Given the description of an element on the screen output the (x, y) to click on. 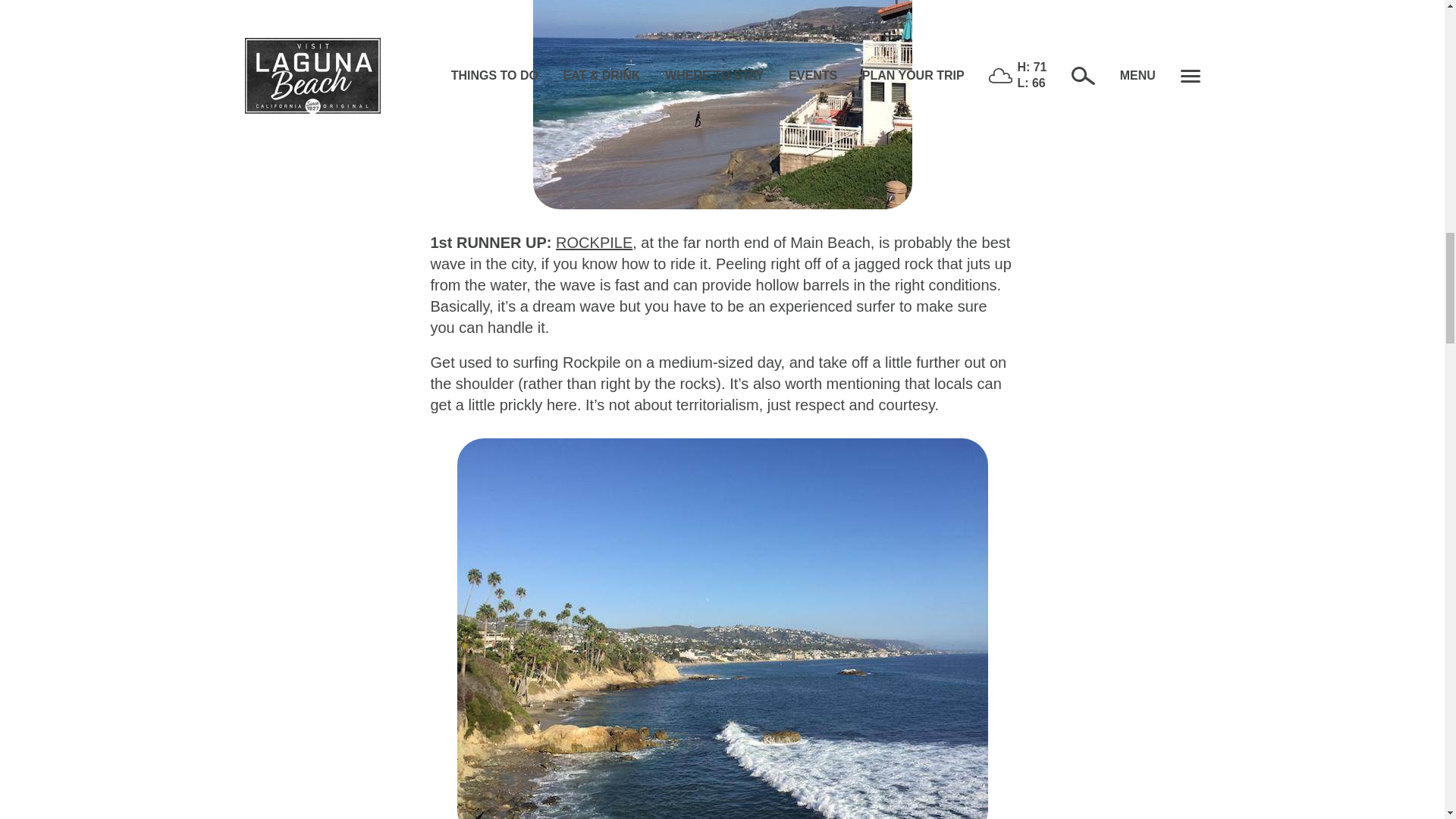
The Best Beach for Surfing (721, 104)
